Given the description of an element on the screen output the (x, y) to click on. 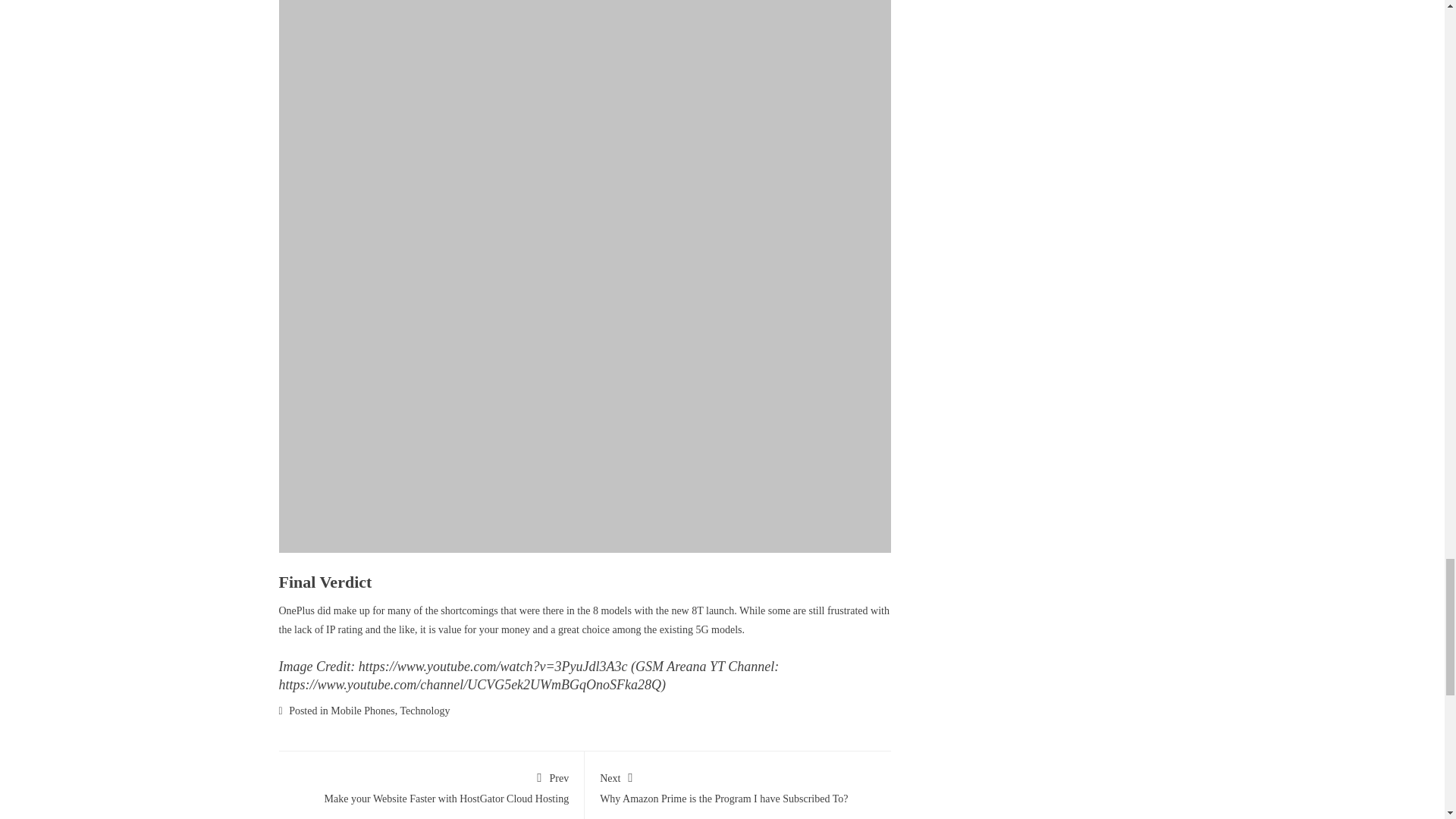
Mobile Phones (737, 785)
OnePlus (362, 710)
Technology (431, 785)
